Given the description of an element on the screen output the (x, y) to click on. 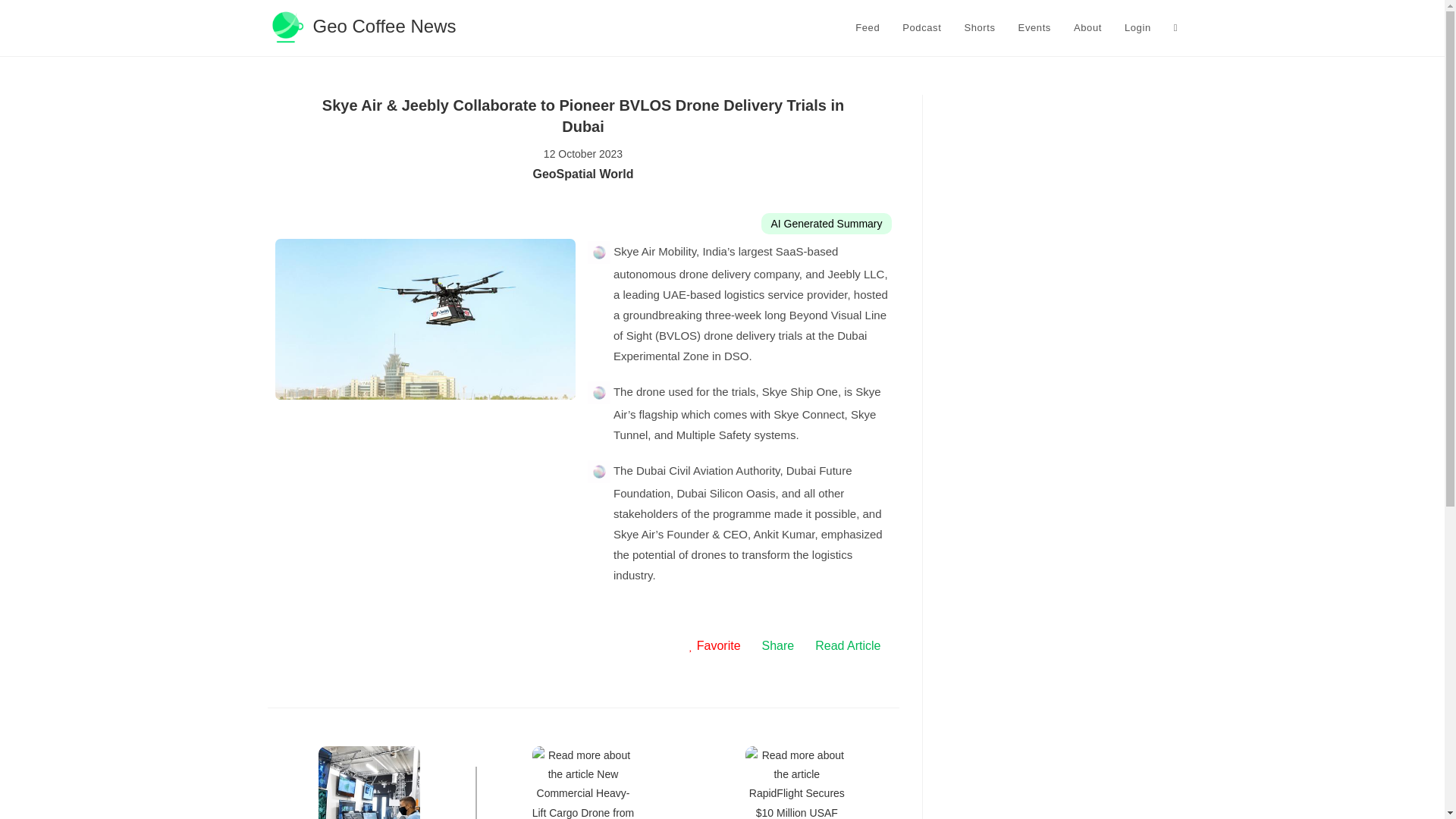
Favorite (714, 645)
Geo Coffee News (360, 25)
Shorts (979, 28)
Share (777, 645)
Podcast (921, 28)
GeoSpatial World (582, 174)
Events (1034, 28)
About (1087, 28)
